Given the description of an element on the screen output the (x, y) to click on. 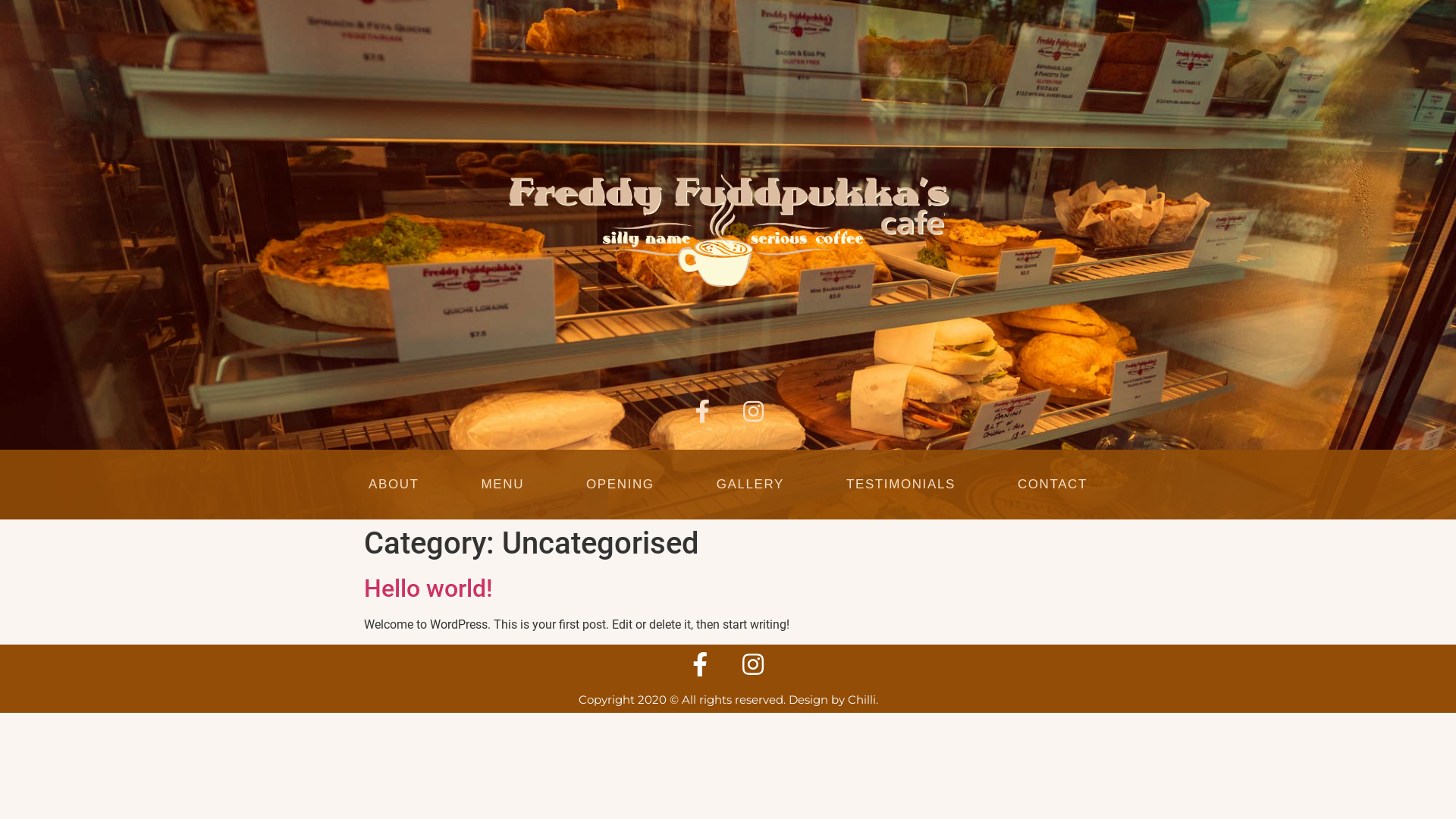
Hello world! Element type: text (428, 588)
OPENING Element type: text (620, 484)
TESTIMONIALS Element type: text (900, 484)
ABOUT Element type: text (393, 484)
CONTACT Element type: text (1052, 484)
MENU Element type: text (502, 484)
GALLERY Element type: text (750, 484)
